Given the description of an element on the screen output the (x, y) to click on. 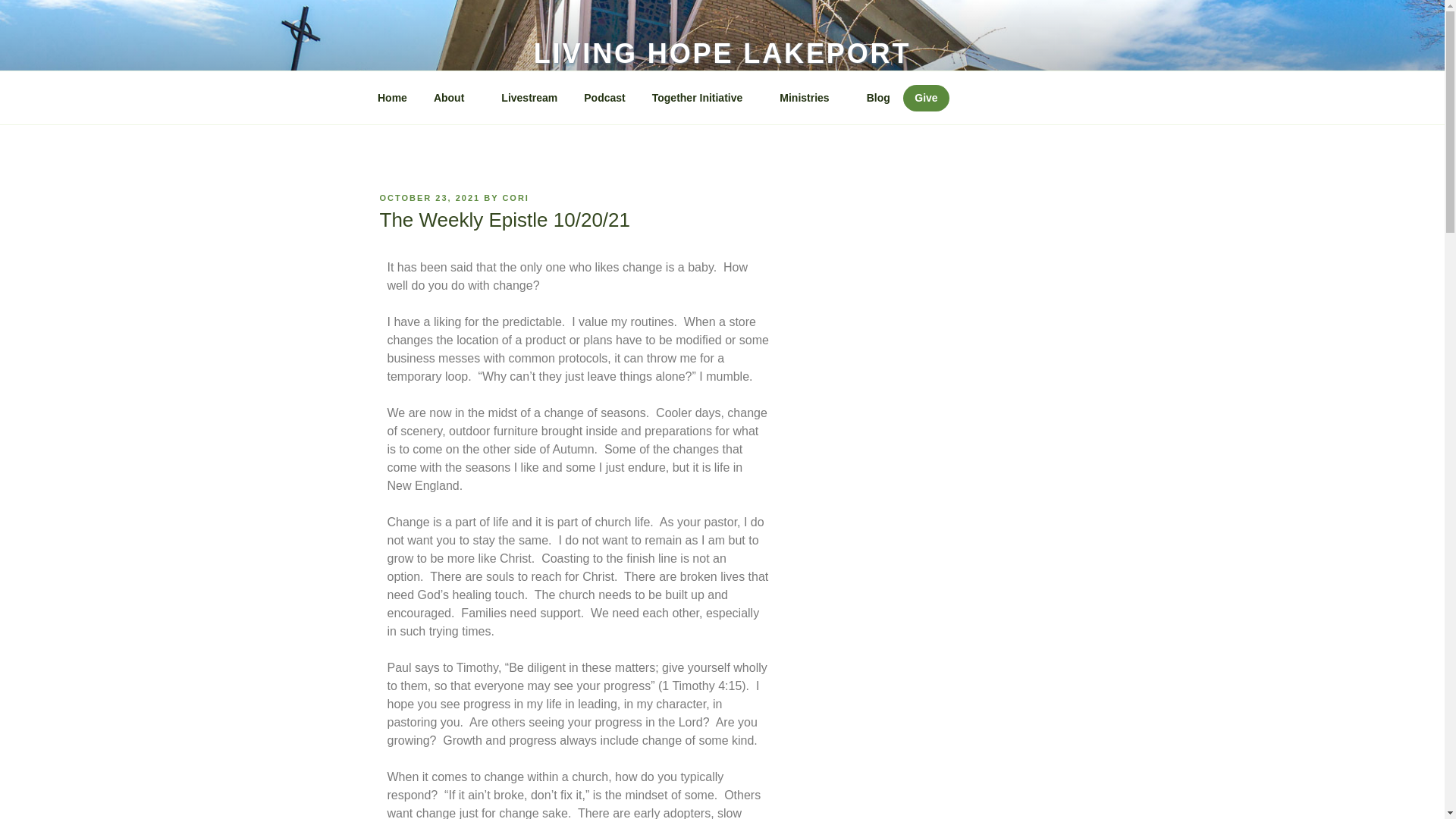
Together Initiative (703, 97)
OCTOBER 23, 2021 (429, 197)
LIVING HOPE LAKEPORT (722, 52)
Give (925, 98)
About (453, 97)
Blog (877, 97)
CORI (515, 197)
Podcast (604, 97)
Home (392, 97)
Ministries (810, 97)
